Given the description of an element on the screen output the (x, y) to click on. 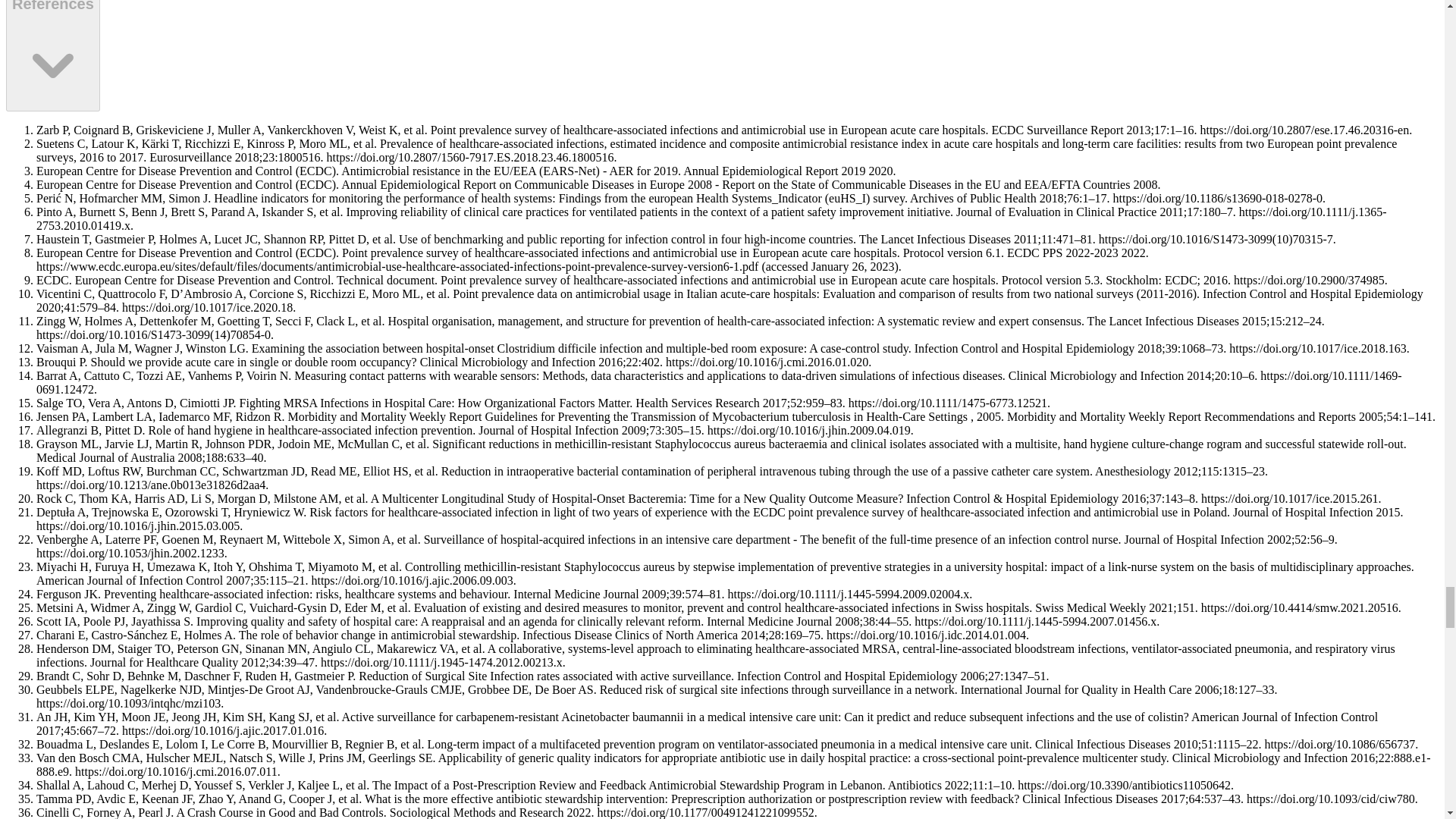
References (52, 55)
